Given the description of an element on the screen output the (x, y) to click on. 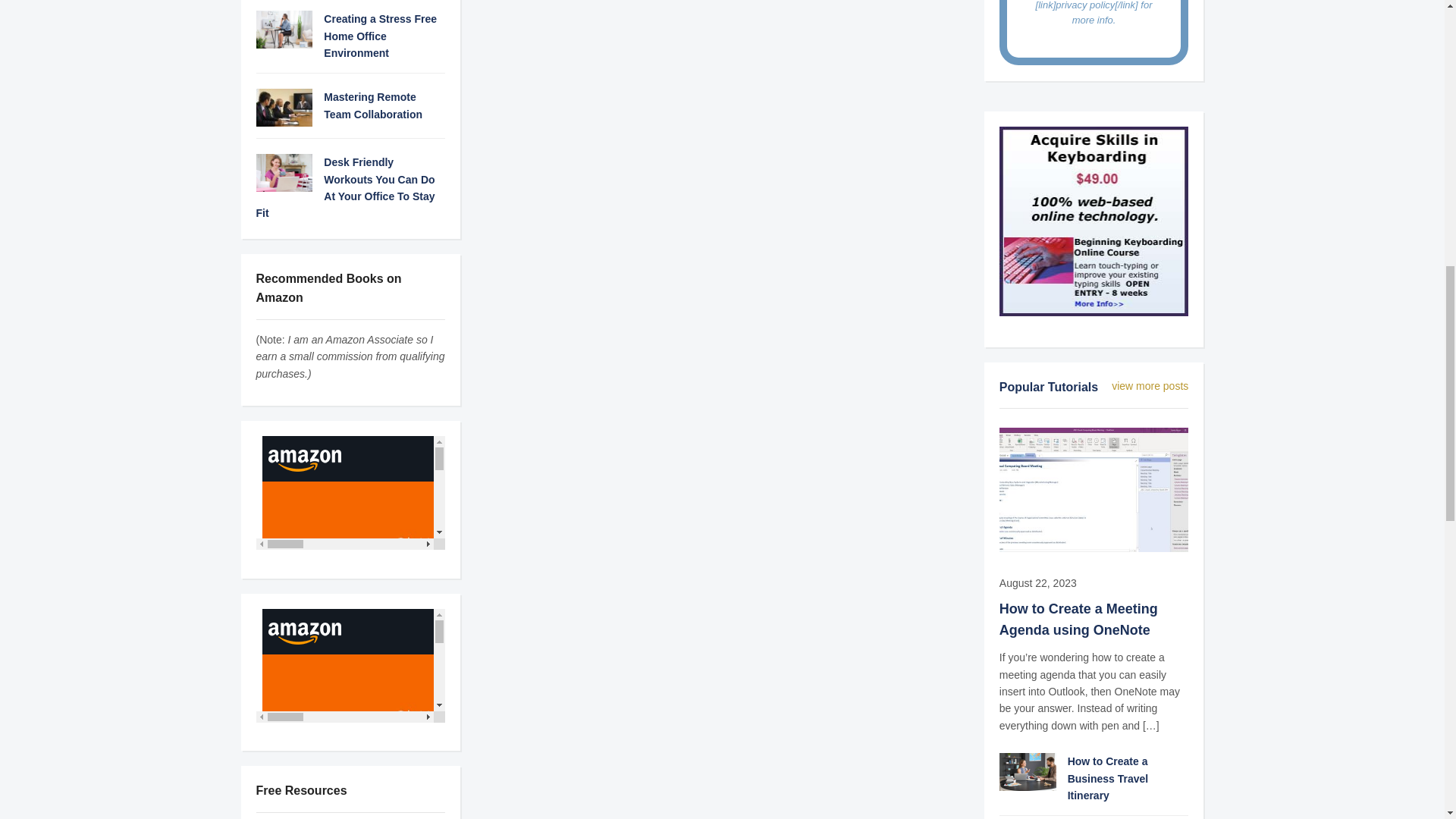
Mastering Remote Team Collaboration (372, 104)
Mastering Remote Team Collaboration (284, 106)
Desk Friendly Workouts You Can Do At Your Office To Stay Fit (284, 172)
Desk Friendly Workouts You Can Do At Your Office To Stay Fit (345, 187)
Creating a Stress Free Home Office Environment (284, 28)
Creating a Stress Free Home Office Environment (379, 35)
